Given the description of an element on the screen output the (x, y) to click on. 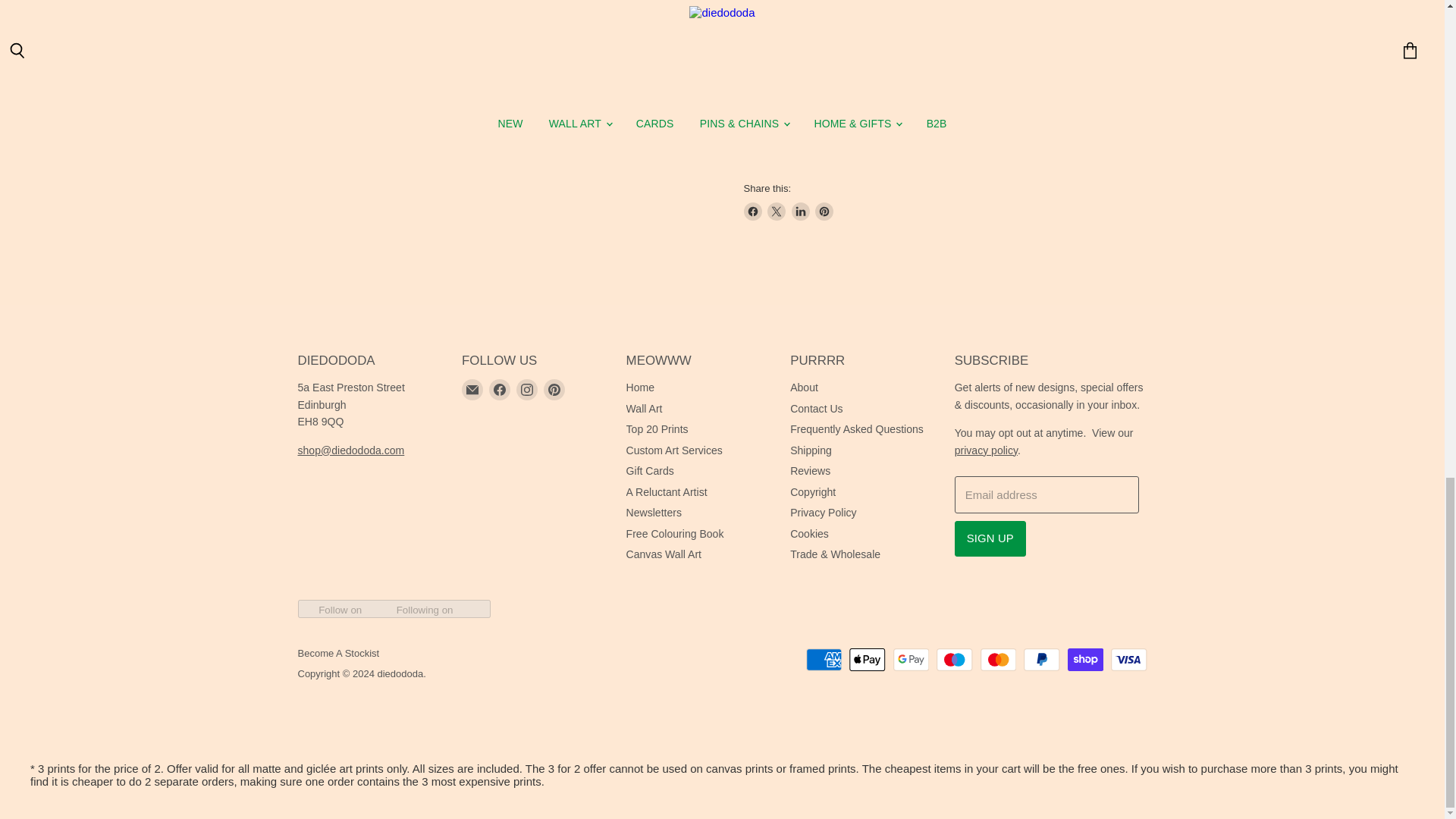
Instagram (526, 389)
Privacy Policy (986, 450)
E-mail (472, 389)
Pinterest (553, 389)
Facebook (499, 389)
